Given the description of an element on the screen output the (x, y) to click on. 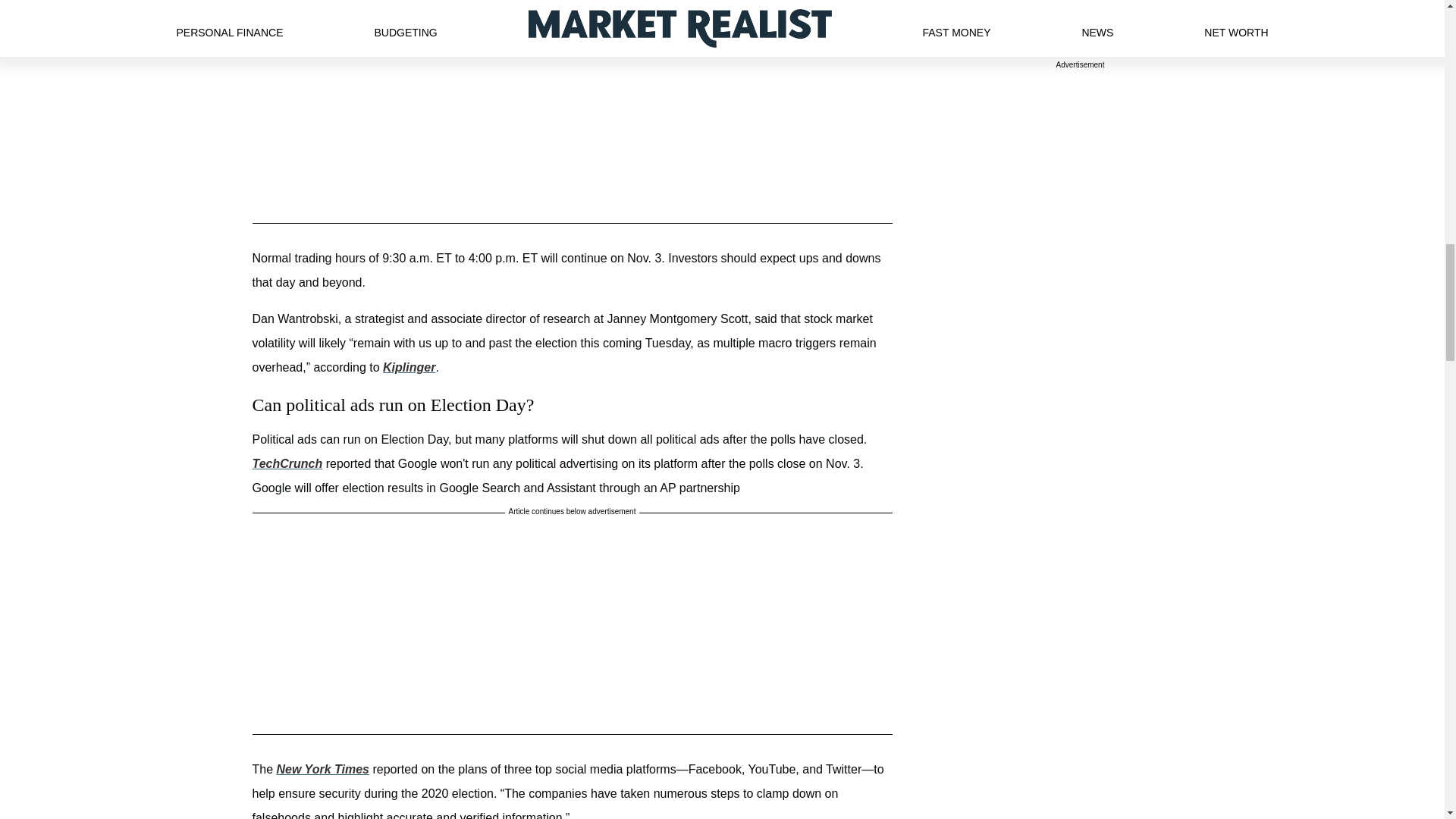
Kiplinger (408, 367)
New York Times (322, 768)
TechCrunch (286, 463)
